Given the description of an element on the screen output the (x, y) to click on. 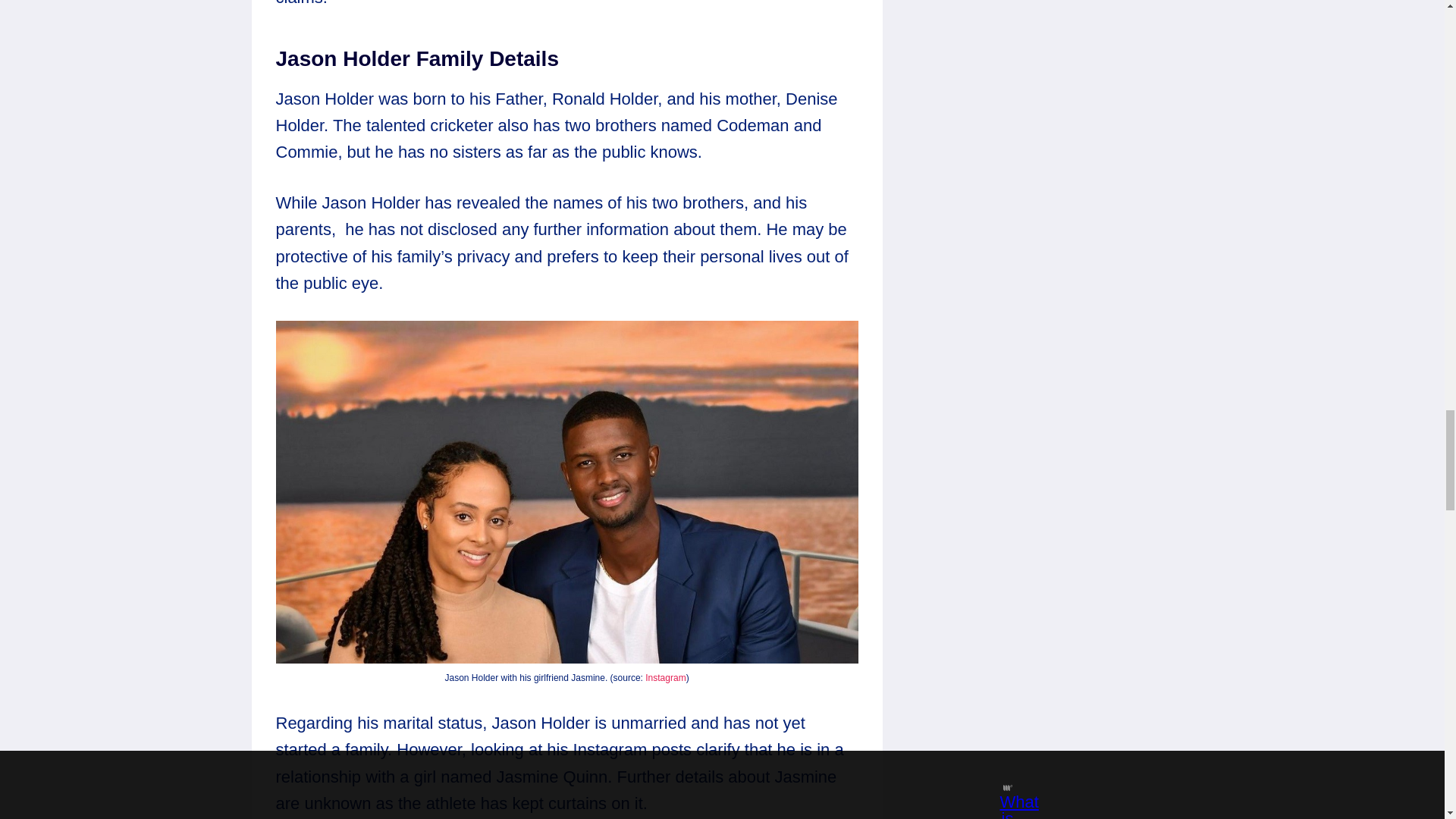
Instagram (665, 677)
